Given the description of an element on the screen output the (x, y) to click on. 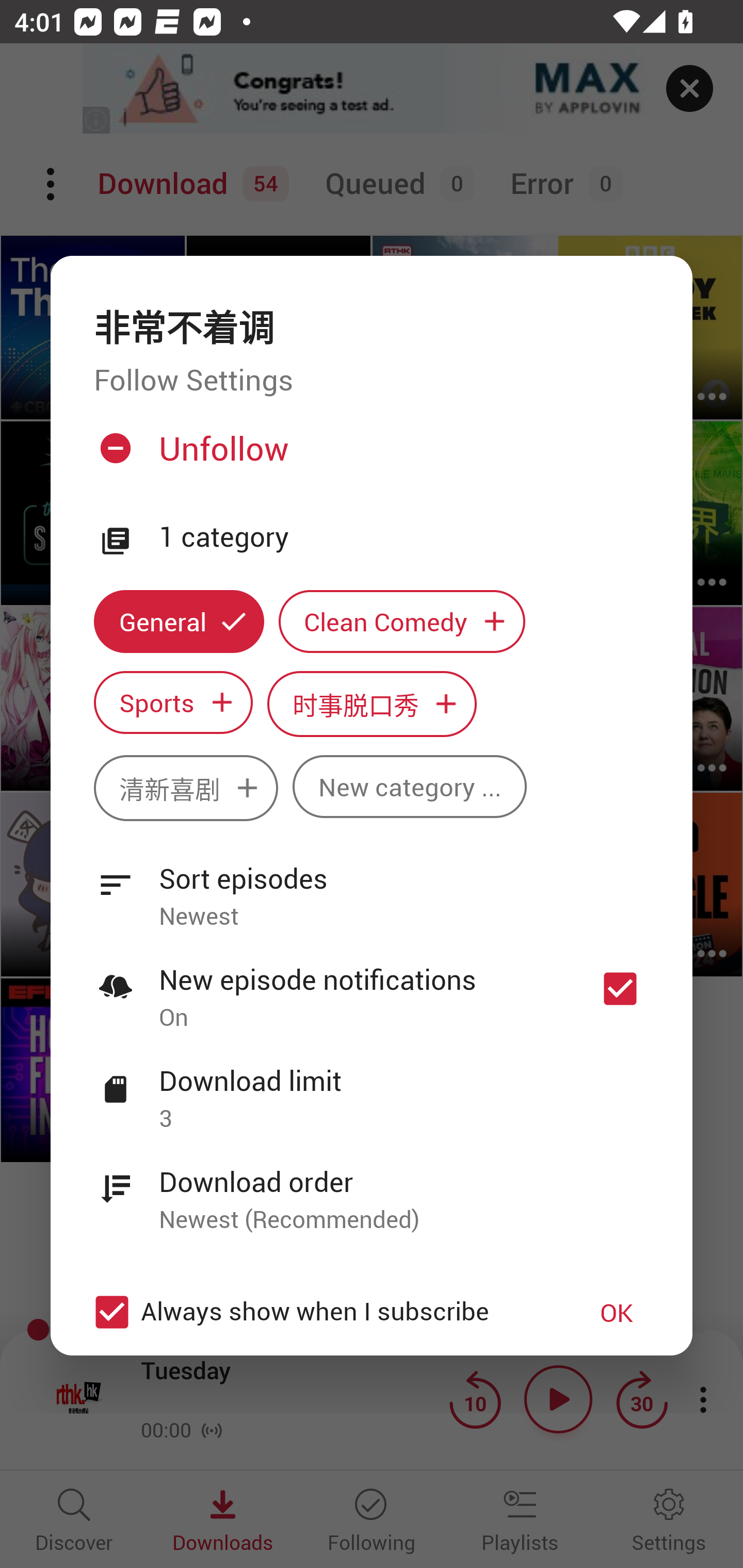
Unfollow (369, 456)
1 category (404, 537)
General (178, 620)
Clean Comedy (401, 620)
Sports (172, 702)
时事脱口秀 (372, 703)
清新喜剧 (185, 788)
New category ... (409, 786)
Sort episodes Newest (371, 885)
New episode notifications (620, 988)
Download limit 3 (371, 1088)
Download order Newest (Recommended) (371, 1189)
OK (616, 1311)
Always show when I subscribe (320, 1311)
